Given the description of an element on the screen output the (x, y) to click on. 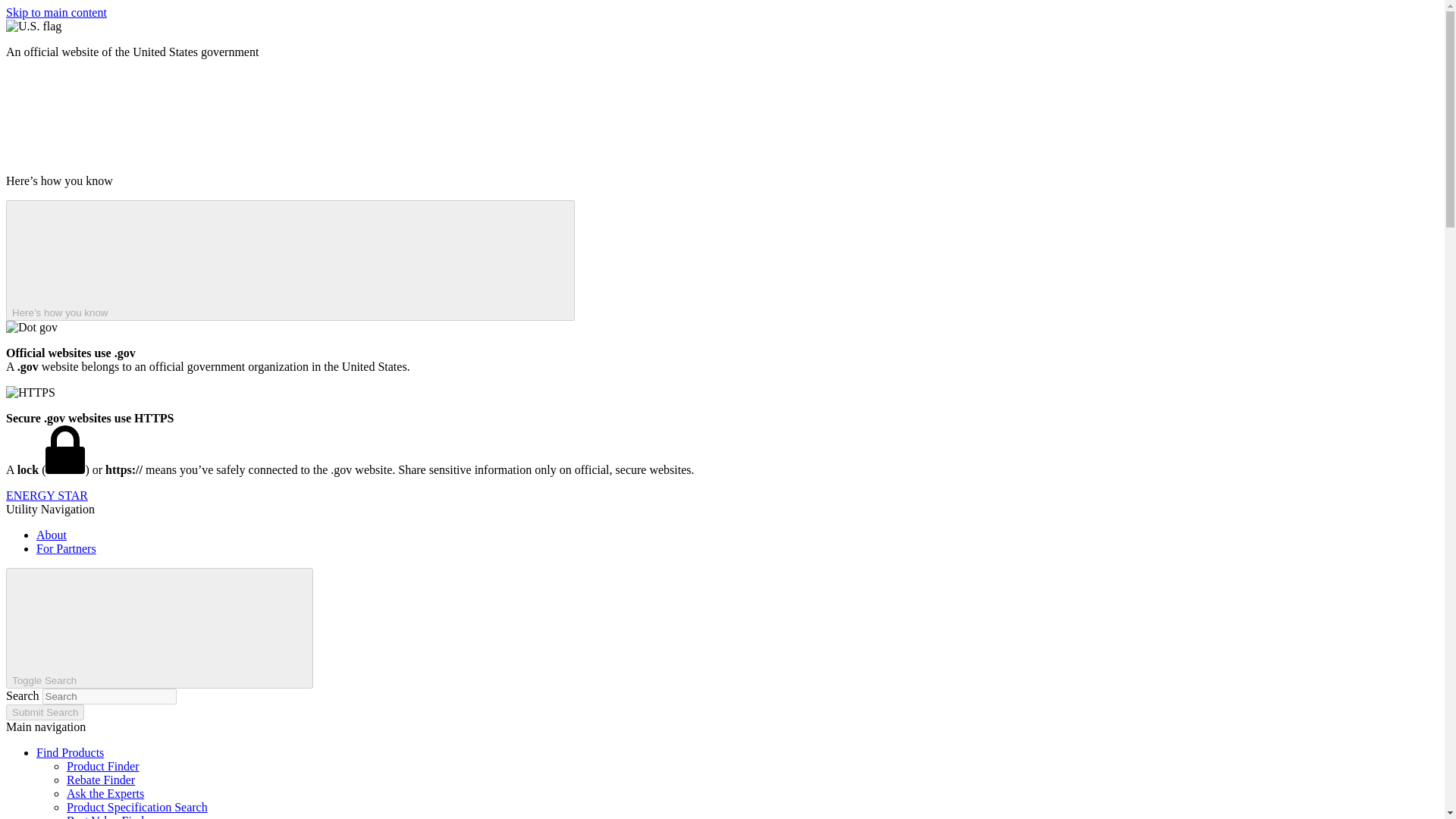
Find Products (69, 752)
About (51, 534)
Rebate Finder (100, 779)
Ask the Experts (105, 793)
Toggle Search Magnifying Glass Icon (159, 628)
Submit Search (44, 712)
ENERGY STAR (46, 495)
Product Specification Search (137, 807)
Skip to main content (55, 11)
Product Finder (102, 766)
